Given the description of an element on the screen output the (x, y) to click on. 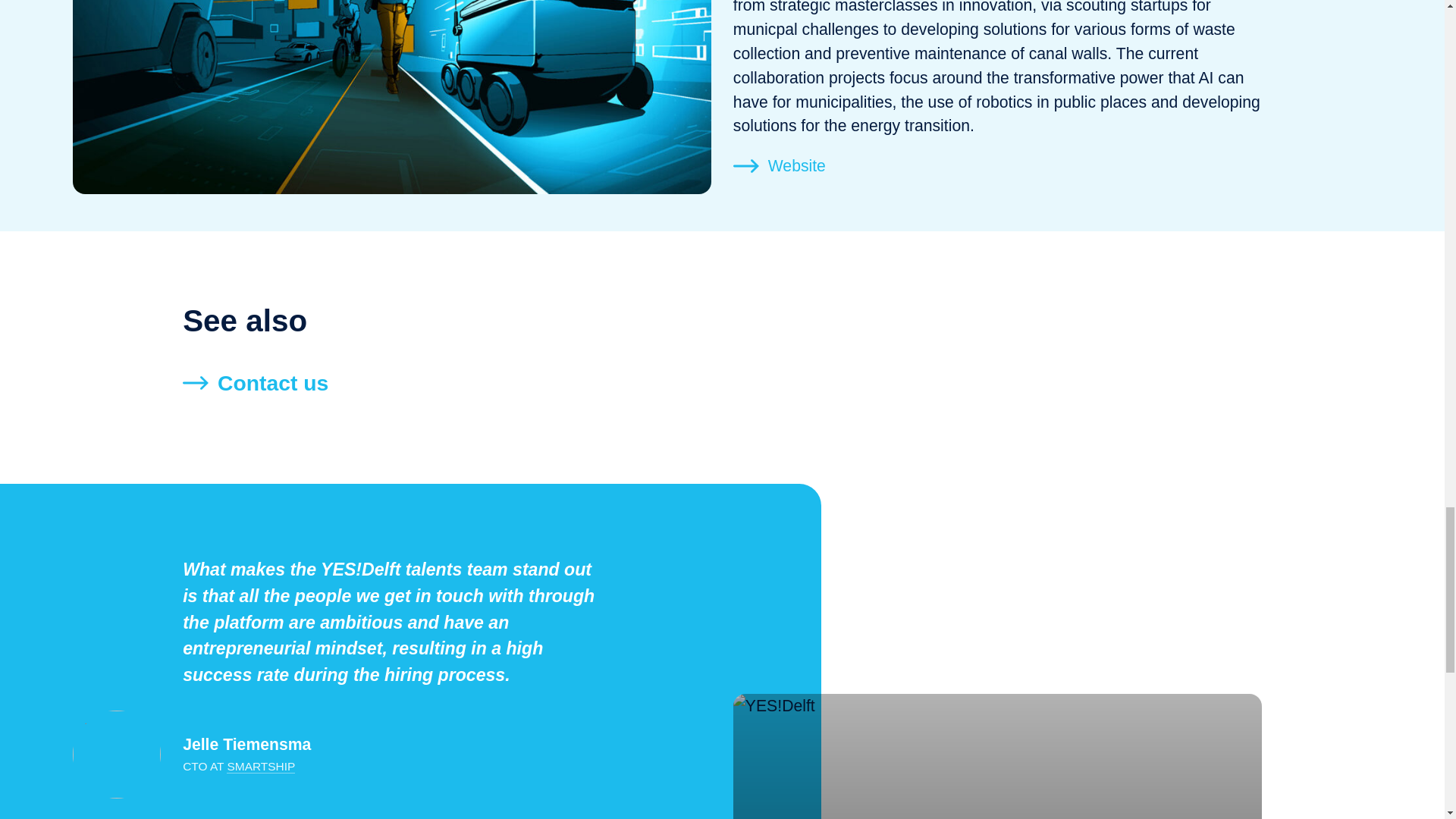
Website (779, 165)
